Given the description of an element on the screen output the (x, y) to click on. 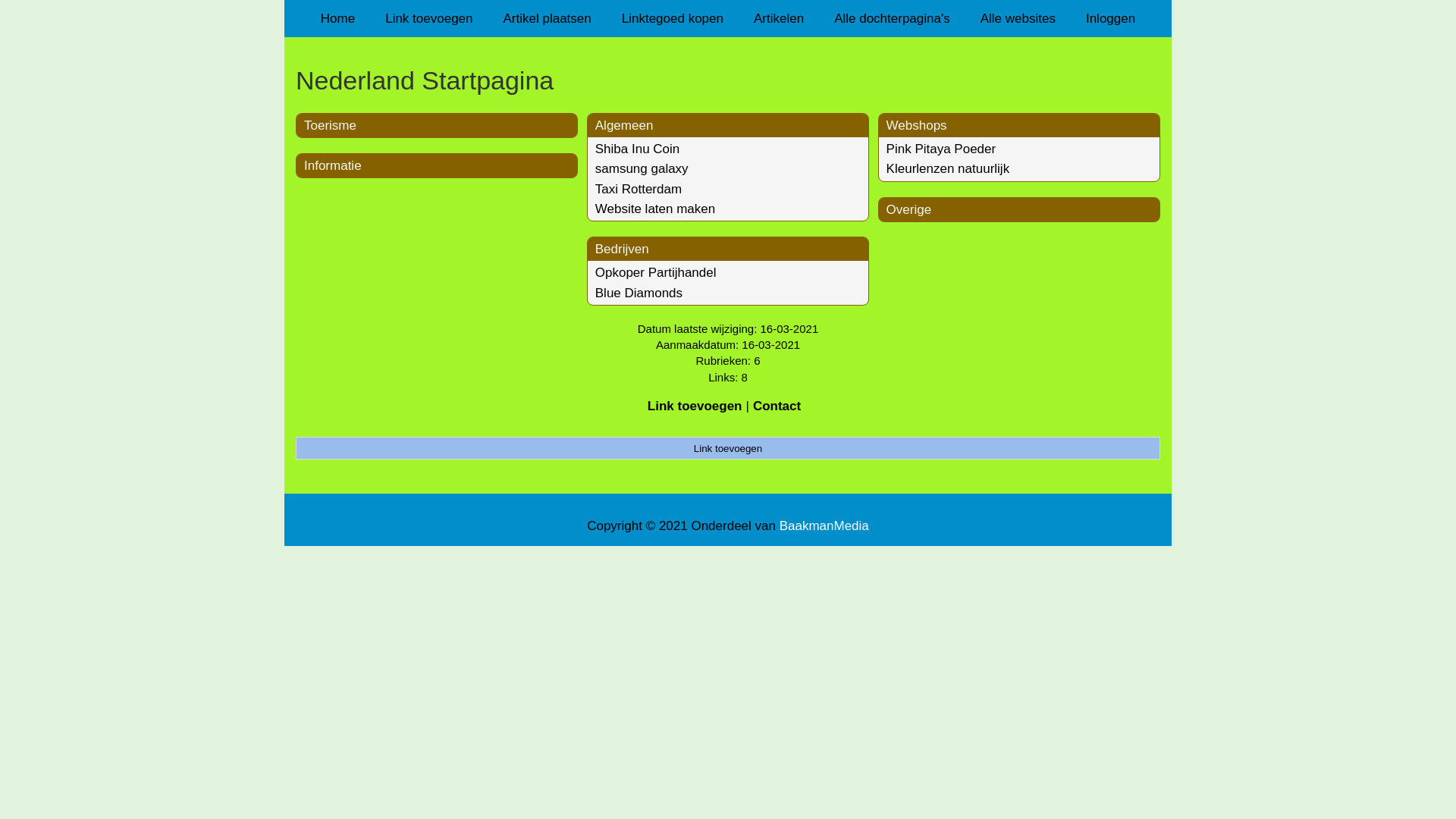
Blue Diamonds Element type: text (638, 292)
Inloggen Element type: text (1110, 18)
Opkoper Partijhandel Element type: text (655, 272)
Home Element type: text (337, 18)
Alle websites Element type: text (1017, 18)
Bedrijven Element type: text (622, 248)
Link toevoegen Element type: text (694, 405)
Toerisme Element type: text (330, 125)
Kleurlenzen natuurlijk Element type: text (948, 168)
Link toevoegen Element type: text (727, 447)
Informatie Element type: text (332, 165)
Link toevoegen Element type: text (428, 18)
Website laten maken Element type: text (655, 208)
Artikelen Element type: text (778, 18)
Webshops Element type: text (916, 125)
Linktegoed kopen Element type: text (672, 18)
Nederland Startpagina Element type: text (727, 80)
Shiba Inu Coin Element type: text (637, 148)
Artikel plaatsen Element type: text (547, 18)
Overige Element type: text (908, 209)
Pink Pitaya Poeder Element type: text (941, 148)
Taxi Rotterdam Element type: text (638, 189)
Contact Element type: text (776, 405)
samsung galaxy Element type: text (641, 168)
Alle dochterpagina's Element type: text (892, 18)
Algemeen Element type: text (624, 125)
BaakmanMedia Element type: text (824, 525)
